Given the description of an element on the screen output the (x, y) to click on. 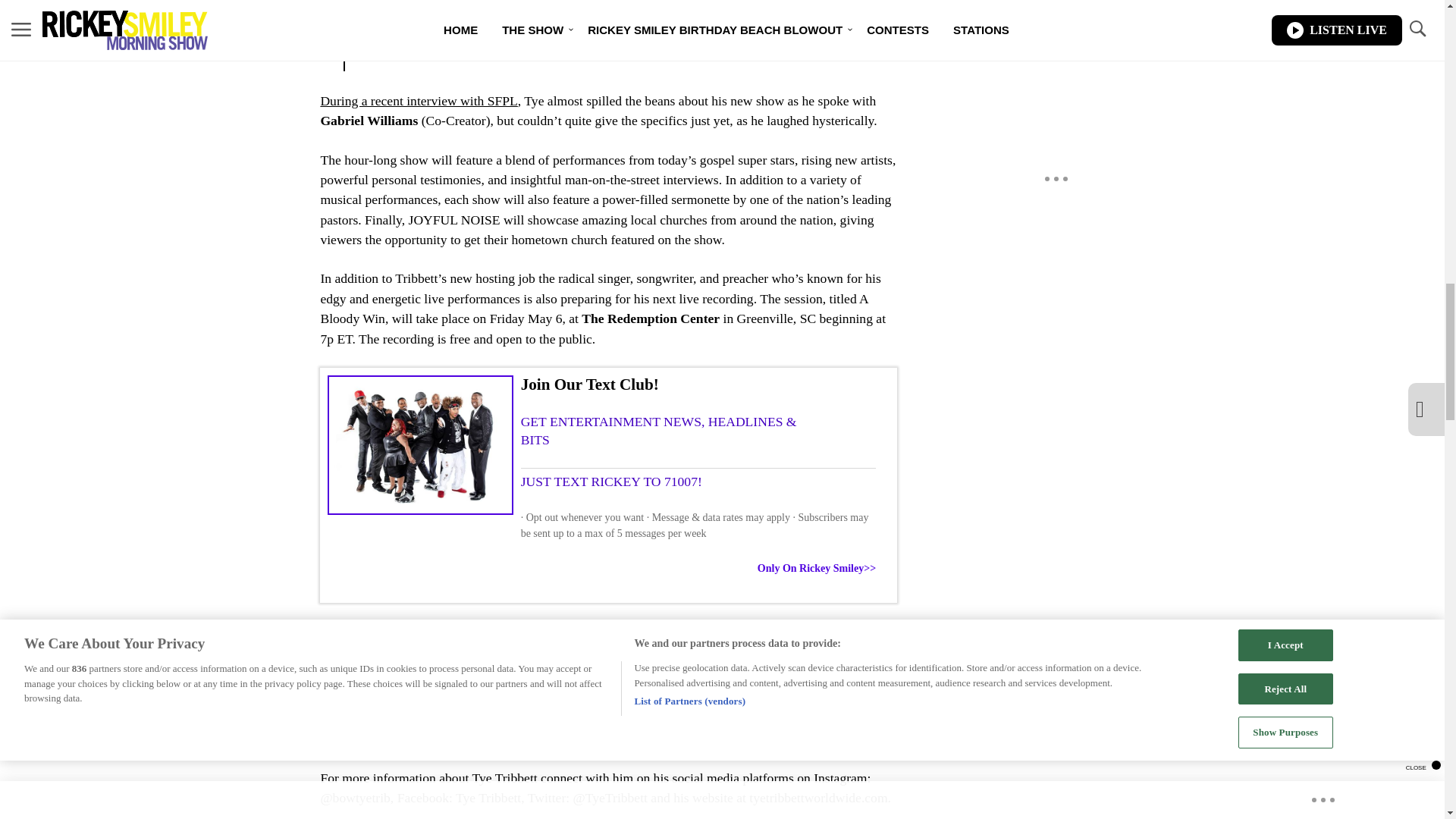
During a recent interview with SFPL (418, 100)
